Given the description of an element on the screen output the (x, y) to click on. 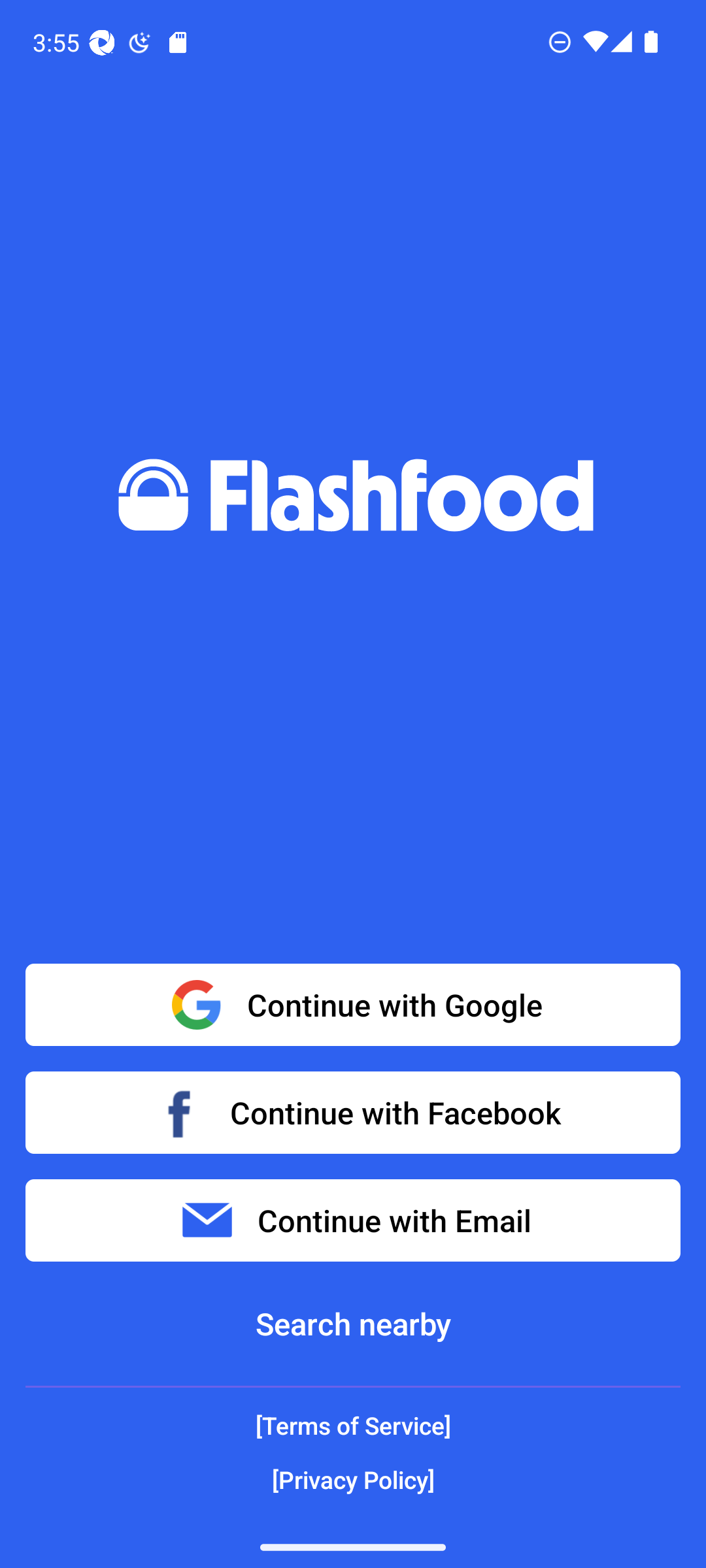
Continue with Google (352, 1004)
Continue with Facebook (352, 1112)
Continue with Email (352, 1220)
Search nearby (352, 1323)
[Terms of Service] (352, 1425)
[Privacy Policy] (352, 1478)
